Given the description of an element on the screen output the (x, y) to click on. 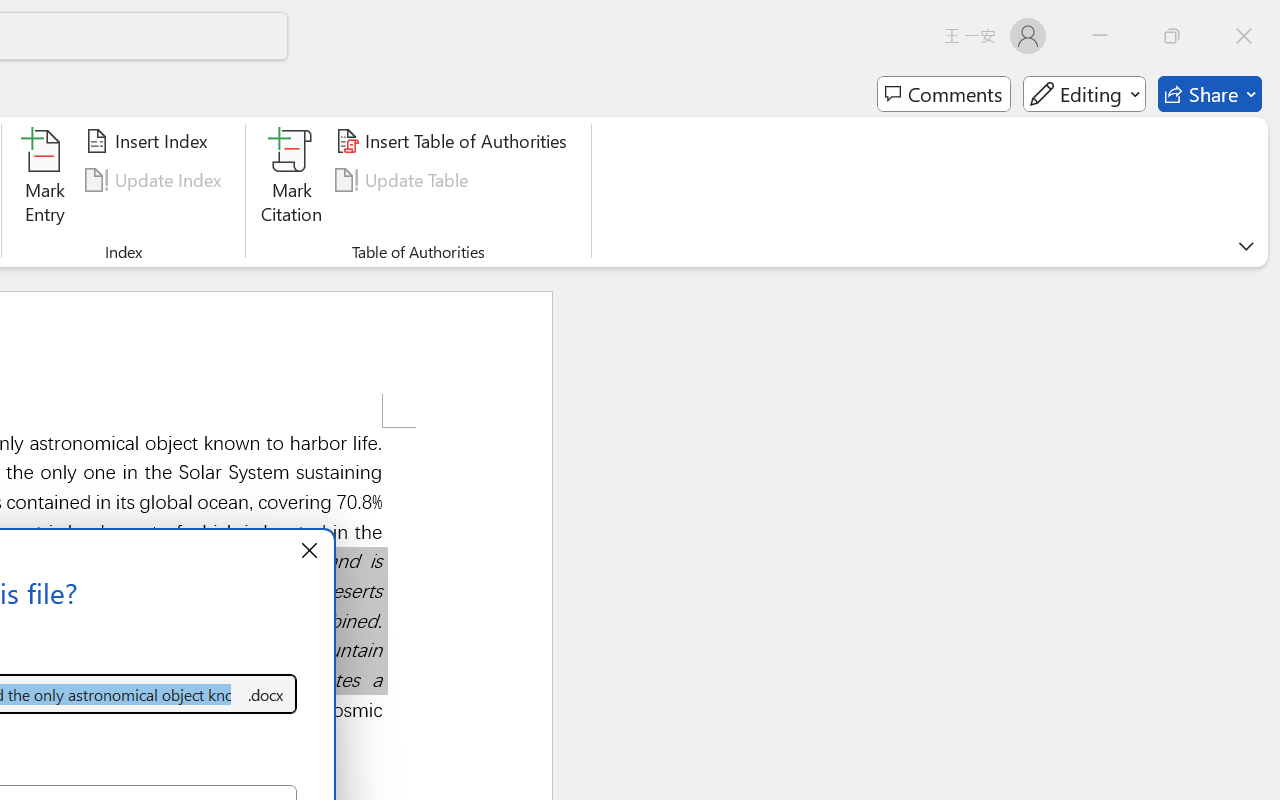
Save as type (265, 694)
Insert Index... (149, 141)
Insert Table of Authorities... (453, 141)
Update Index (156, 179)
Mark Entry... (44, 179)
Update Table (404, 179)
